Given the description of an element on the screen output the (x, y) to click on. 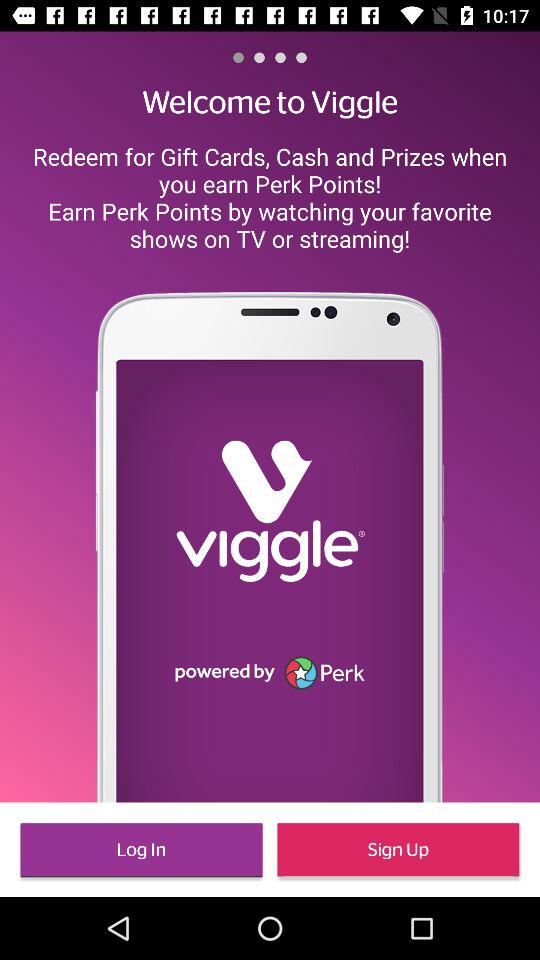
turn on sign up (398, 849)
